Given the description of an element on the screen output the (x, y) to click on. 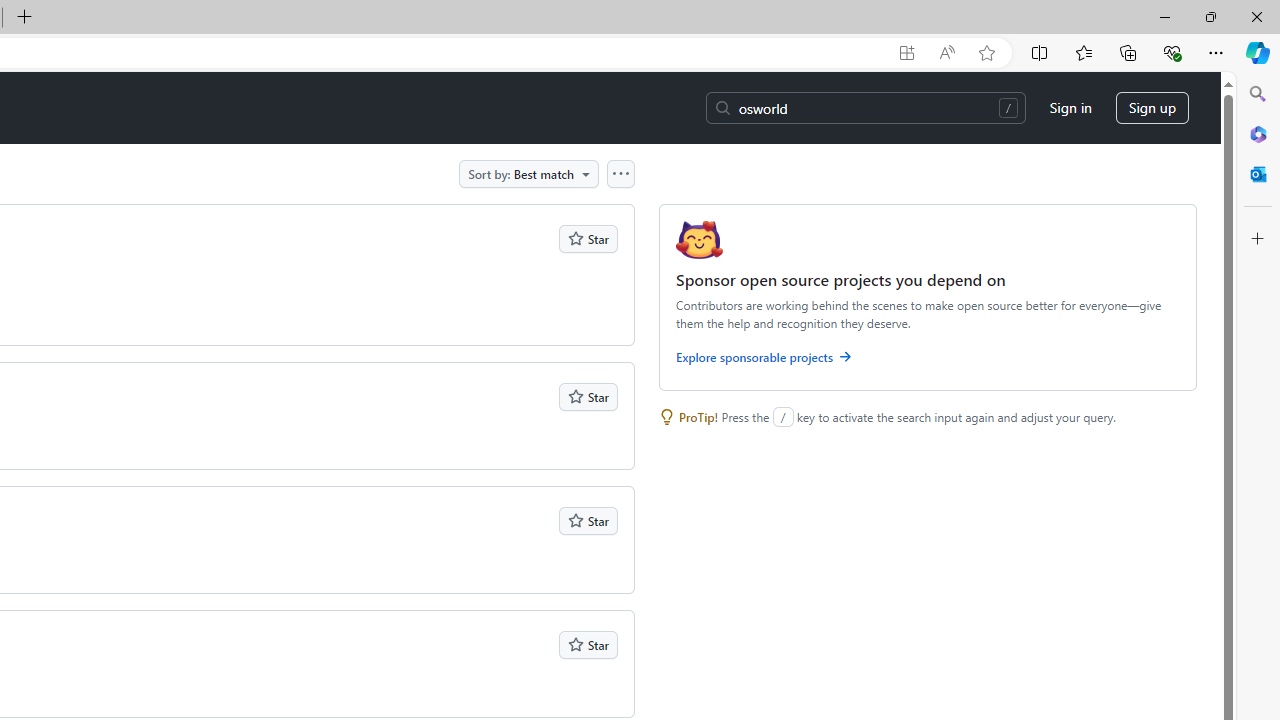
Sign up (1152, 107)
Read aloud this page (Ctrl+Shift+U) (946, 53)
App available. Install GitHub (906, 53)
Restore (1210, 16)
Star (588, 644)
Microsoft 365 (1258, 133)
Minimize (1164, 16)
Collections (1128, 52)
Sign in (1070, 107)
Favorites (1083, 52)
Browser essentials (1171, 52)
Search (1258, 94)
New Tab (24, 17)
Open column options (620, 173)
Explore sponsorable projects (927, 360)
